Given the description of an element on the screen output the (x, y) to click on. 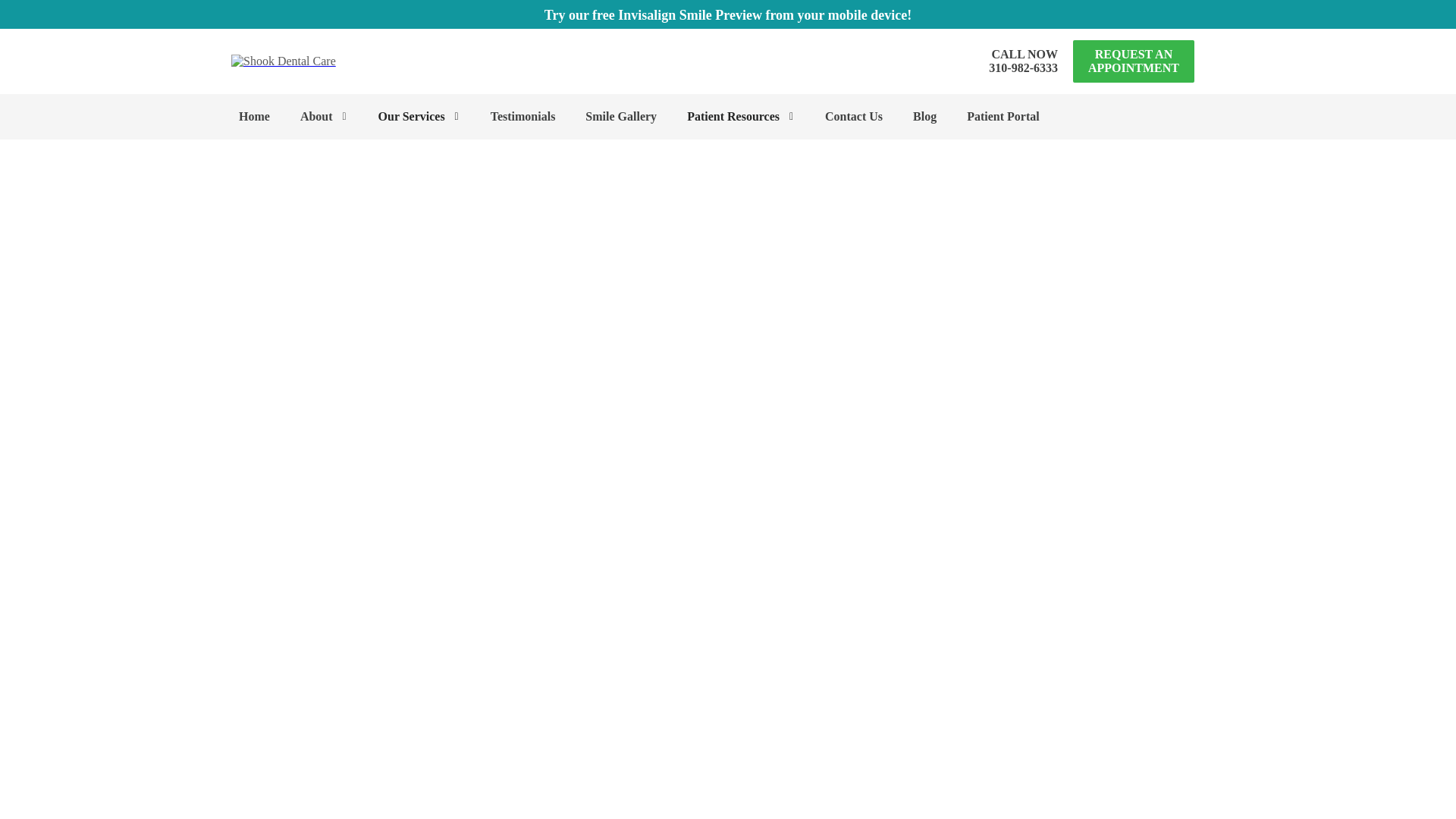
About (324, 116)
REQUEST AN APPOINTMENT (1023, 60)
